Given the description of an element on the screen output the (x, y) to click on. 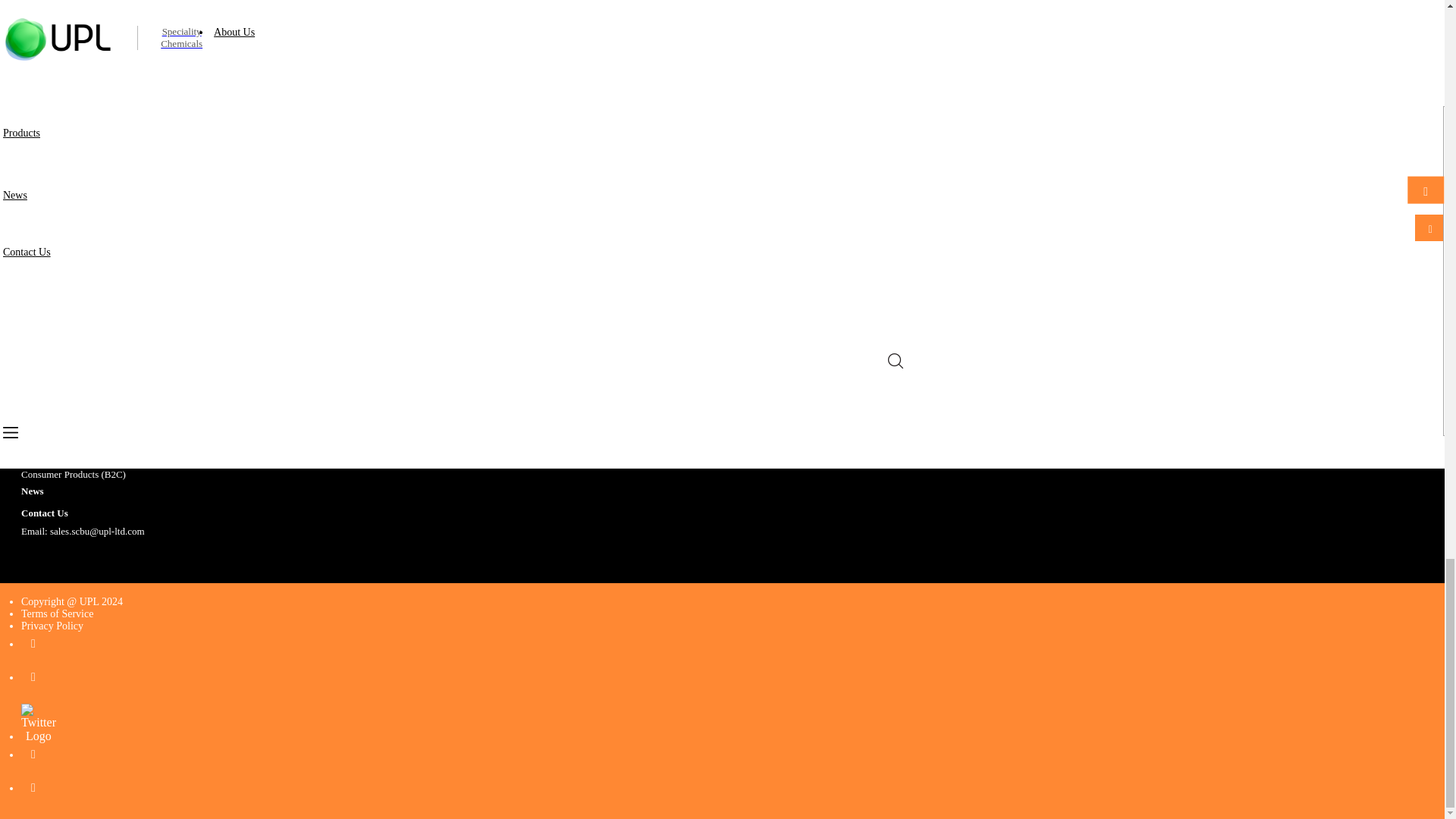
Sulphur Derivatives (60, 336)
Phosphorus Derivatives (68, 316)
Our Legacy (44, 259)
Leadership Team (54, 278)
